Given the description of an element on the screen output the (x, y) to click on. 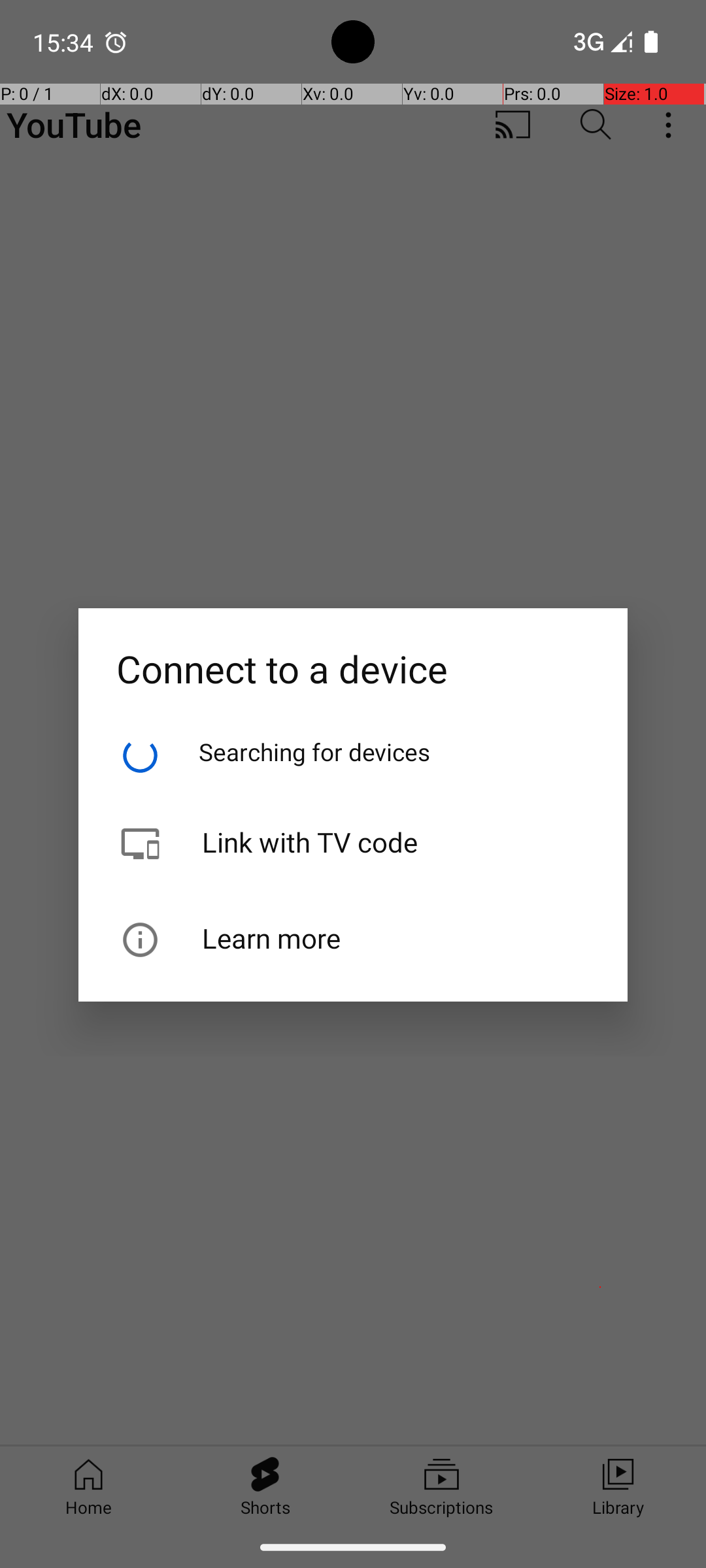
Connect to a device Element type: android.widget.TextView (352, 650)
Searching for devices Element type: android.widget.TextView (314, 751)
Link with TV code Element type: android.widget.TextView (352, 816)
